Given the description of an element on the screen output the (x, y) to click on. 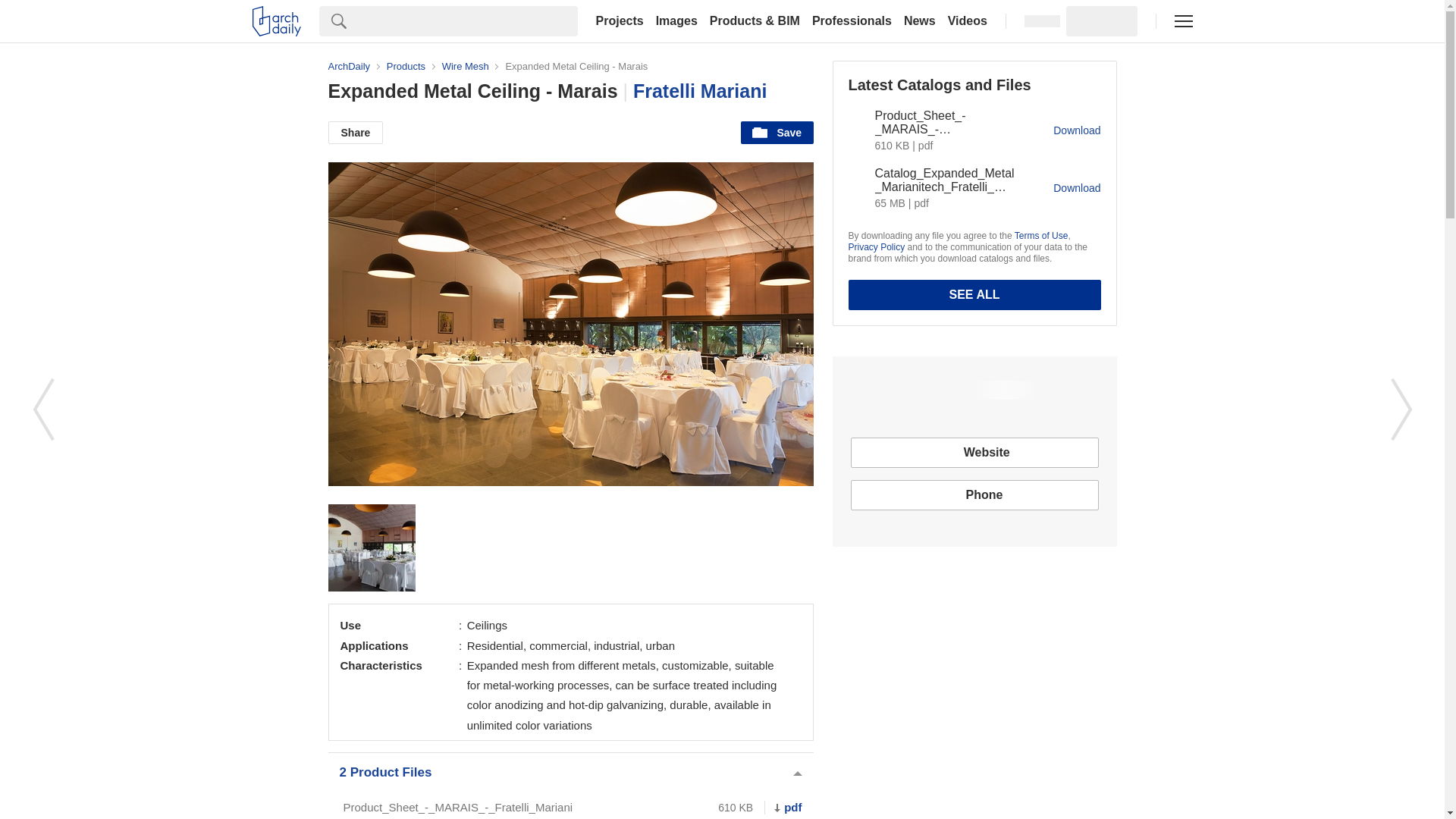
Videos (967, 21)
Images (676, 21)
Projects (619, 21)
News (920, 21)
Marais1.jpg (370, 547)
Professionals (852, 21)
